Given the description of an element on the screen output the (x, y) to click on. 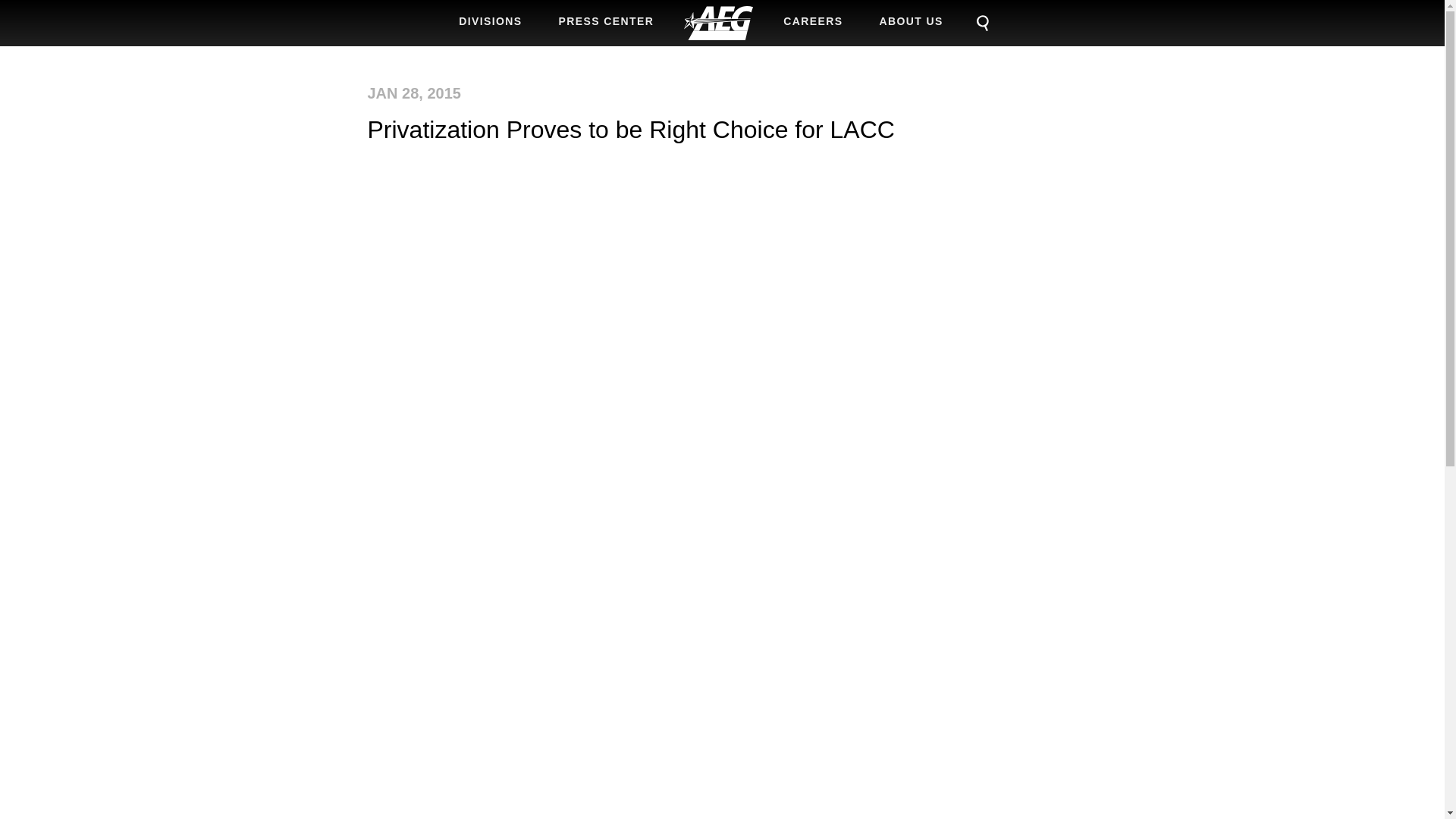
CAREERS (812, 21)
ABOUT US (910, 21)
DIVISIONS (490, 21)
PRESS CENTER (606, 21)
